Given the description of an element on the screen output the (x, y) to click on. 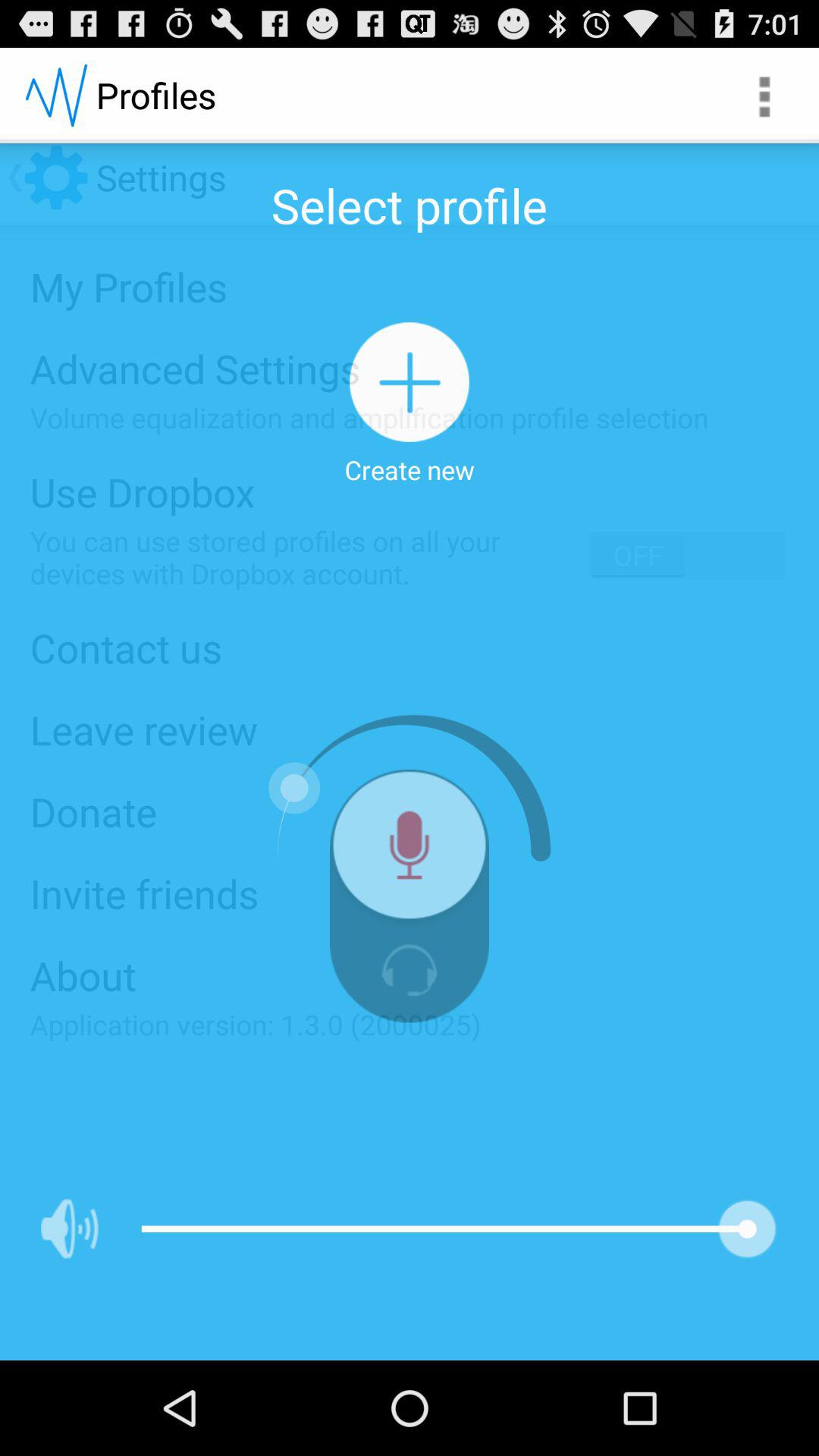
begin recording (409, 851)
